Given the description of an element on the screen output the (x, y) to click on. 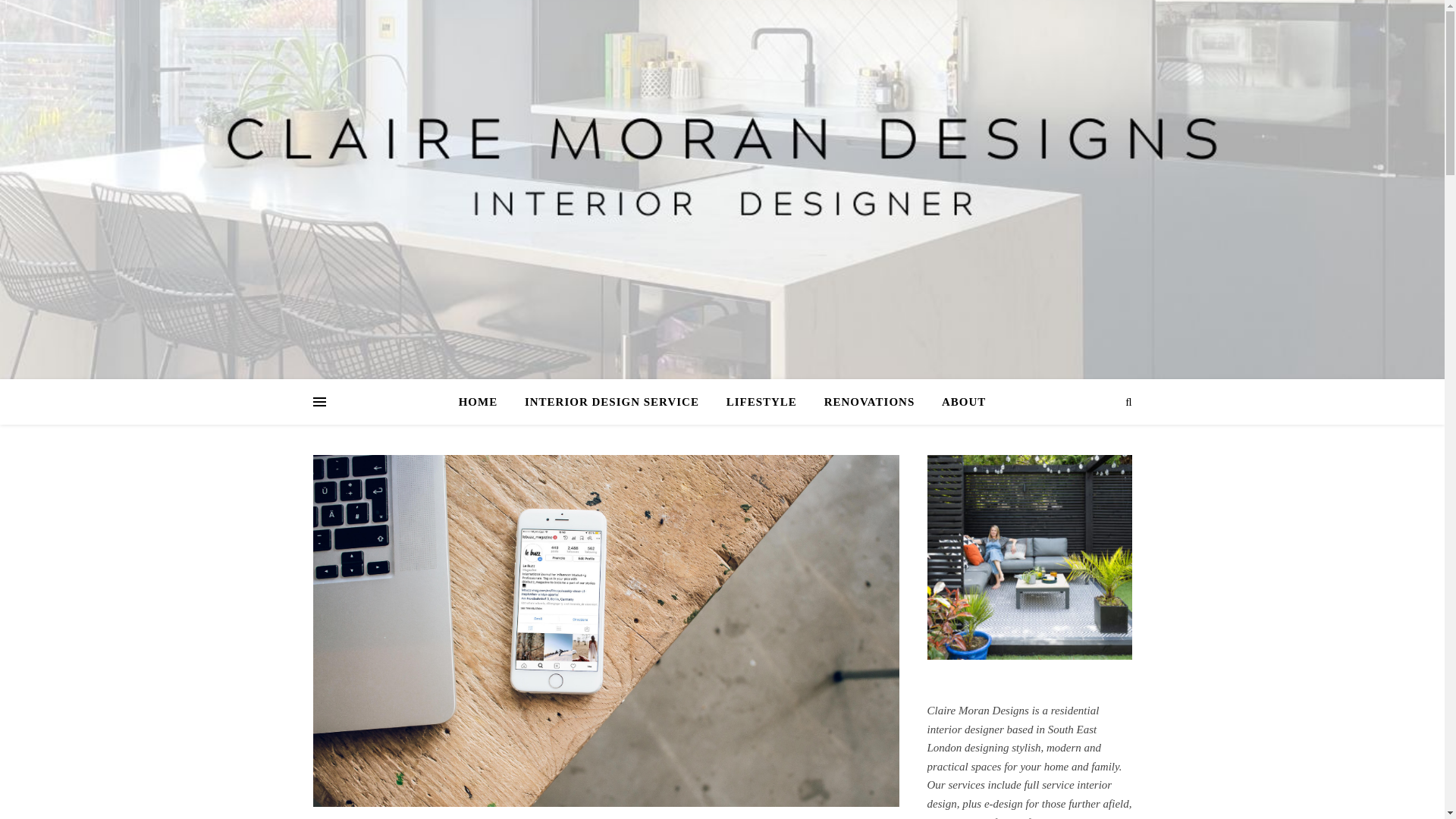
HOME (484, 402)
ABOUT (957, 402)
RENOVATIONS (869, 402)
INTERIOR DESIGN SERVICE (611, 402)
LIFESTYLE (761, 402)
